Given the description of an element on the screen output the (x, y) to click on. 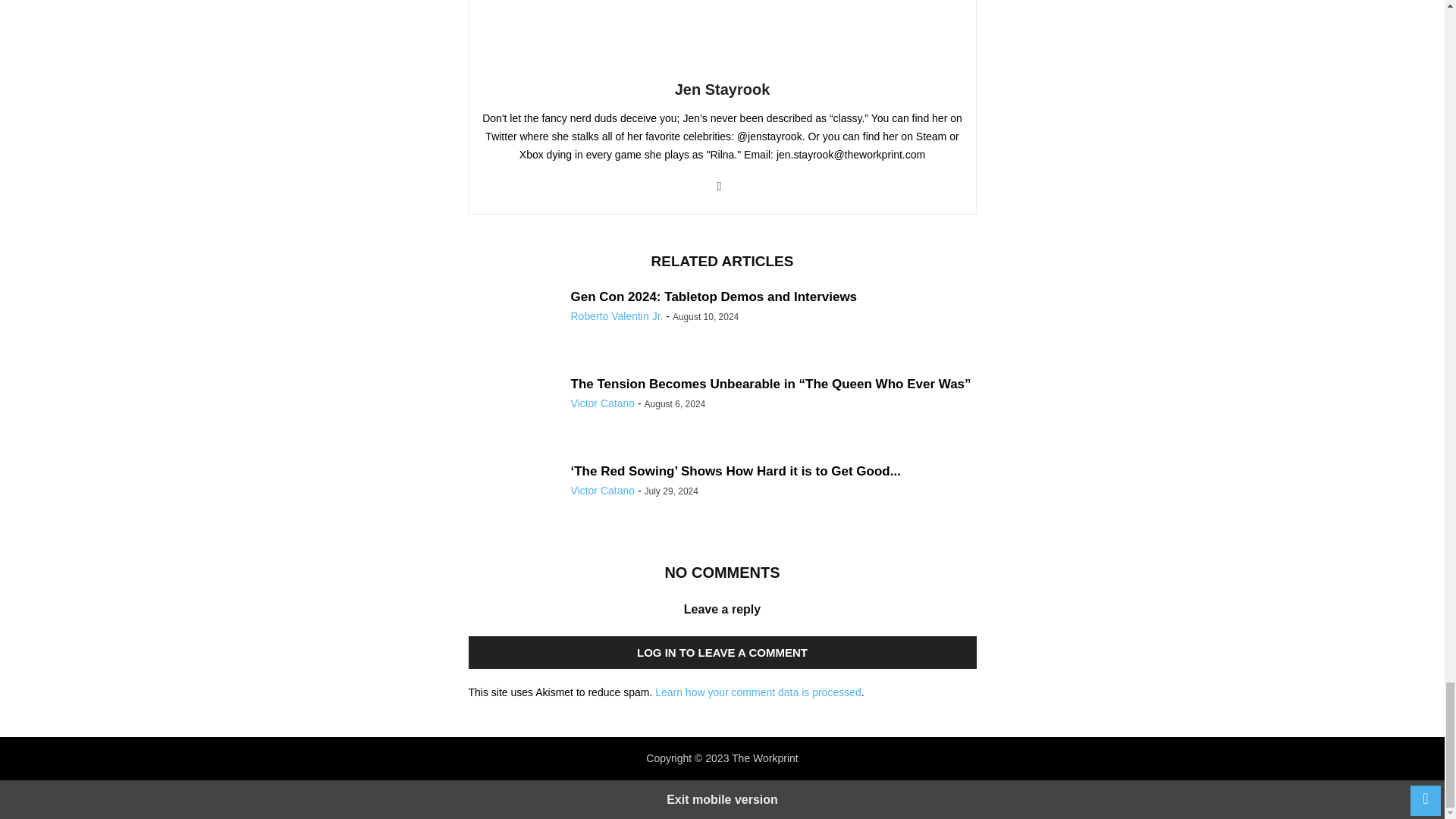
Roberto Valentin Jr. (616, 316)
Gen Con 2024: Tabletop Demos and Interviews (713, 296)
Victor Catano (602, 403)
Jen Stayrook (722, 89)
